Given the description of an element on the screen output the (x, y) to click on. 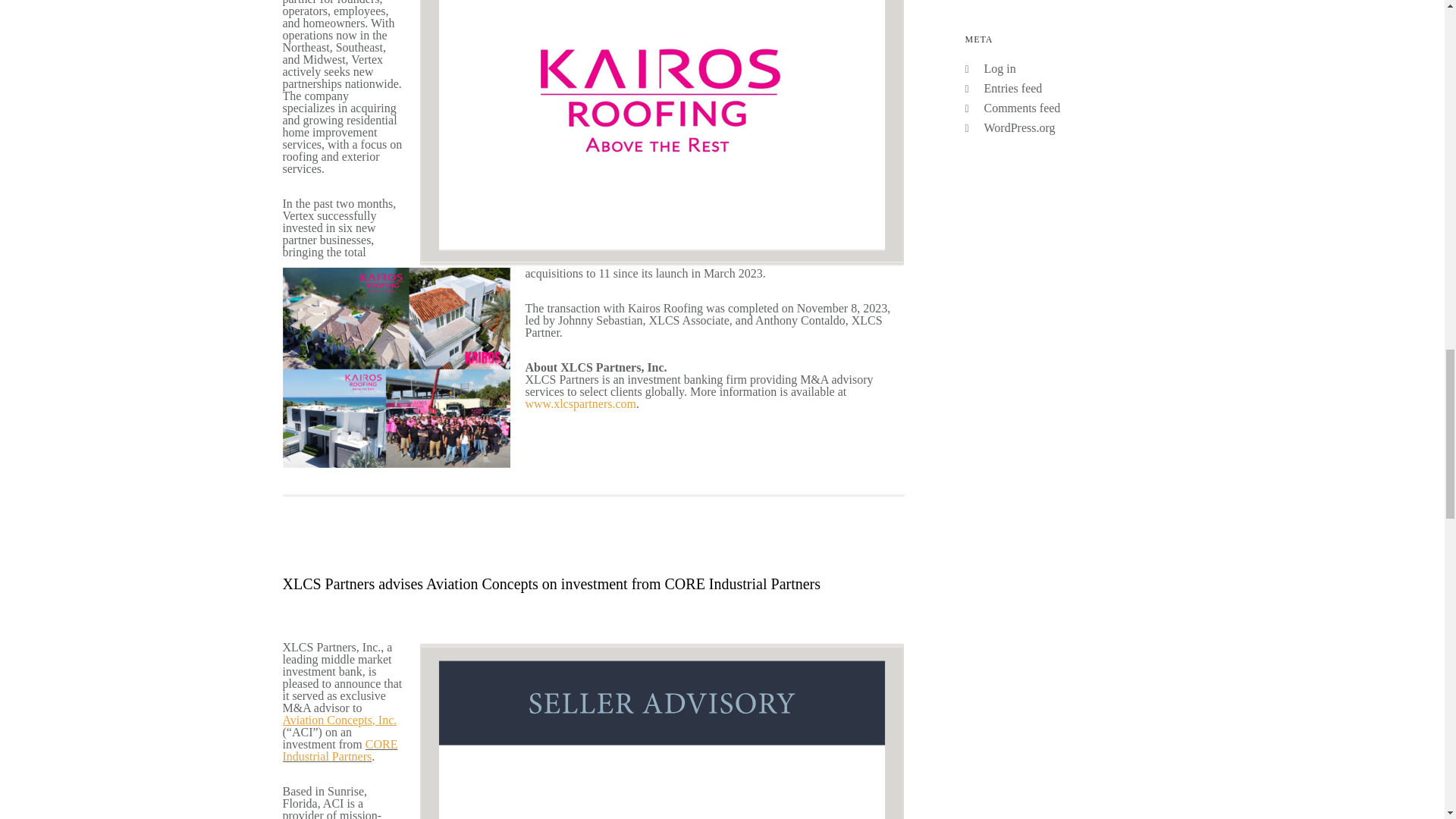
CORE Industrial Partners (339, 749)
www.xlcspartners.com (579, 403)
Aviation Concepts, Inc. (339, 719)
